Given the description of an element on the screen output the (x, y) to click on. 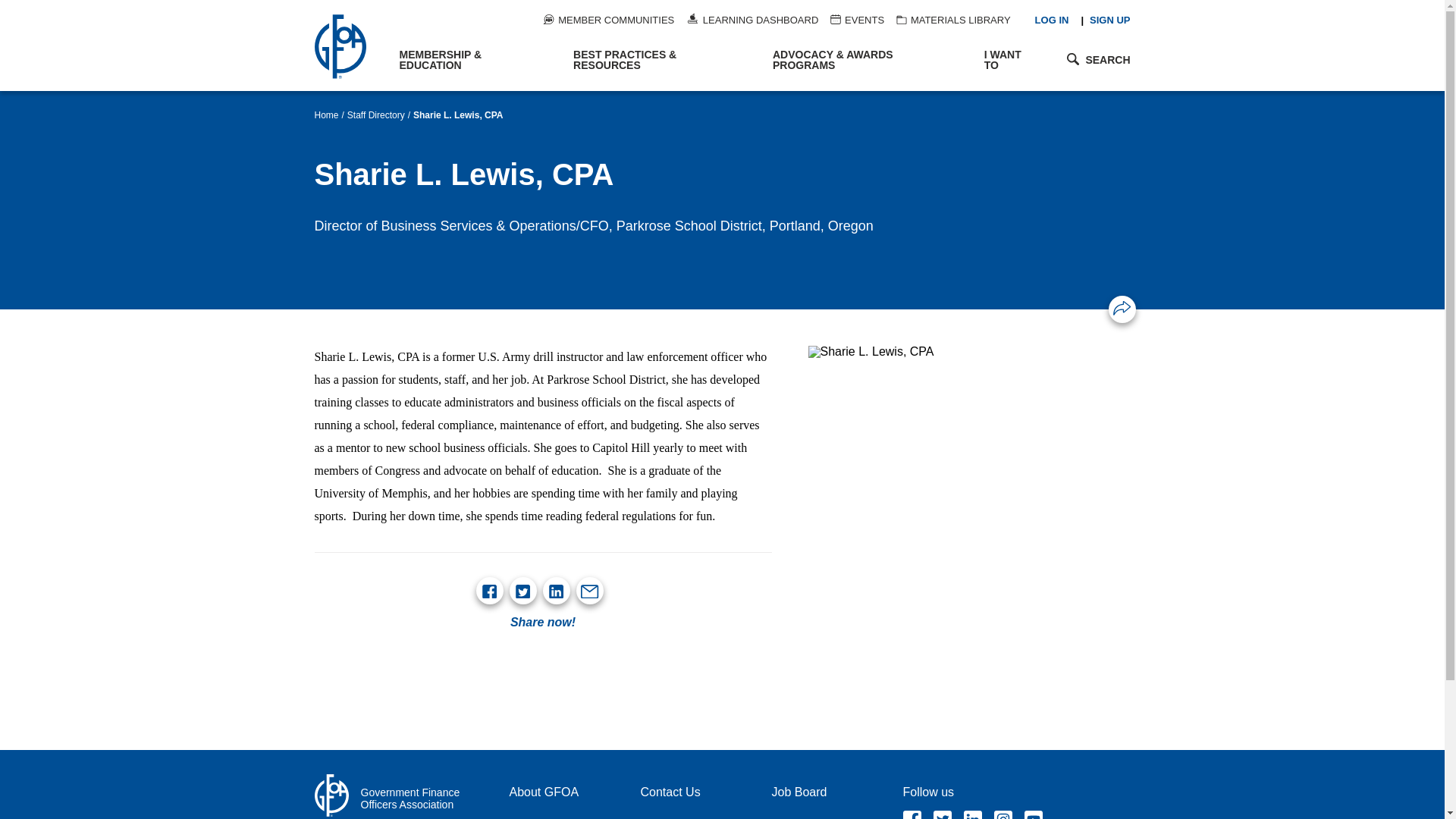
Instagram (1001, 814)
Share this page (1122, 308)
Twitter (941, 814)
LOG IN (1051, 19)
LEARNING DASHBOARD (751, 19)
Home (349, 45)
Twitter (522, 591)
Facebook (488, 591)
YouTube (1032, 814)
Facebook (911, 814)
